Given the description of an element on the screen output the (x, y) to click on. 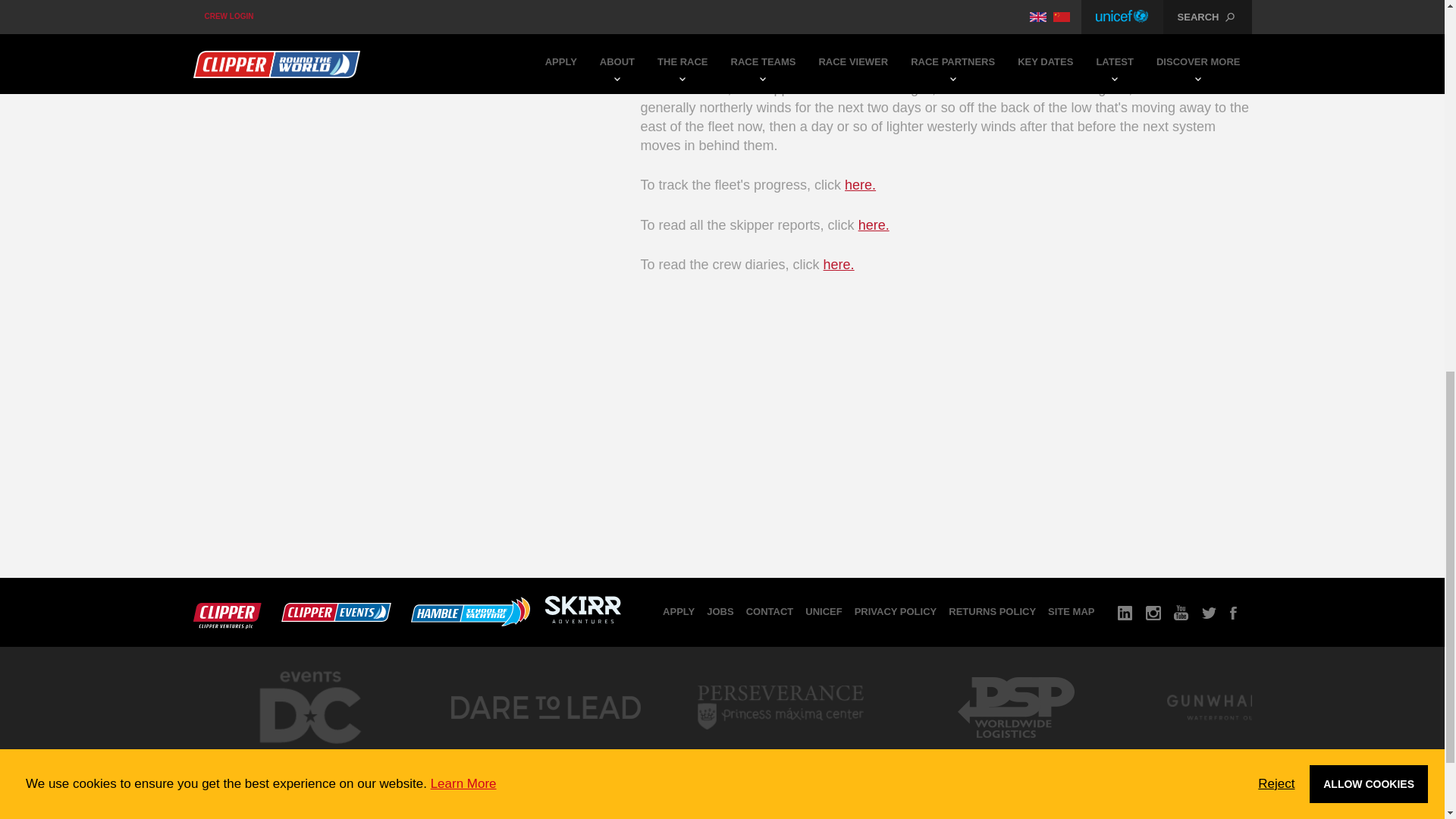
Gunwharf Quays (1250, 751)
Events DC (309, 757)
Dare To Lead (544, 751)
Perseverance (780, 751)
PSP Logistics (1014, 751)
